Given the description of an element on the screen output the (x, y) to click on. 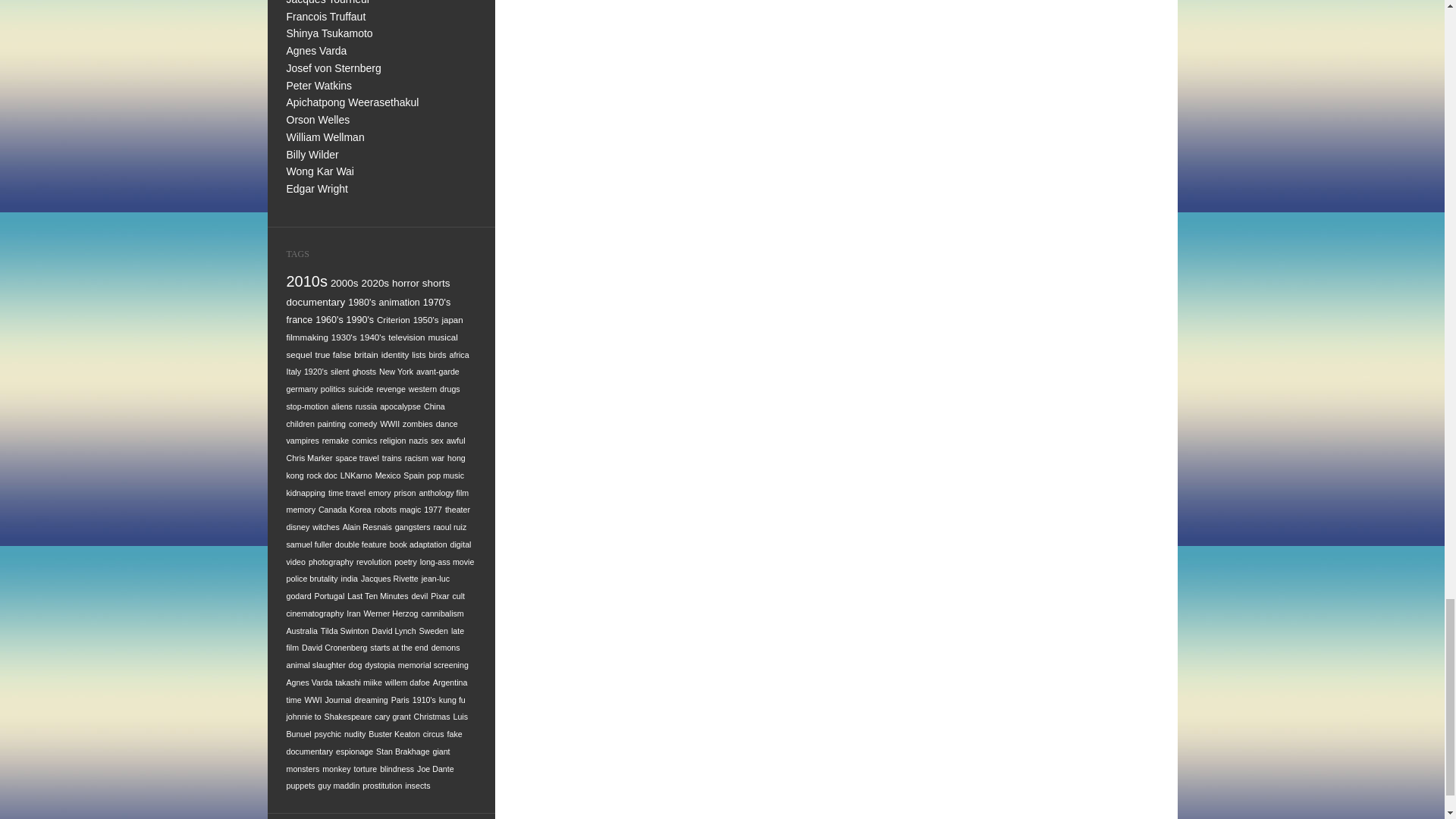
277 topics (399, 302)
250 topics (329, 319)
319 topics (316, 301)
324 topics (435, 283)
345 topics (374, 283)
163 topics (307, 337)
288 topics (361, 302)
254 topics (299, 319)
196 topics (426, 319)
270 topics (437, 302)
243 topics (360, 319)
171 topics (452, 319)
352 topics (344, 283)
972 topics (307, 280)
338 topics (405, 283)
